Given the description of an element on the screen output the (x, y) to click on. 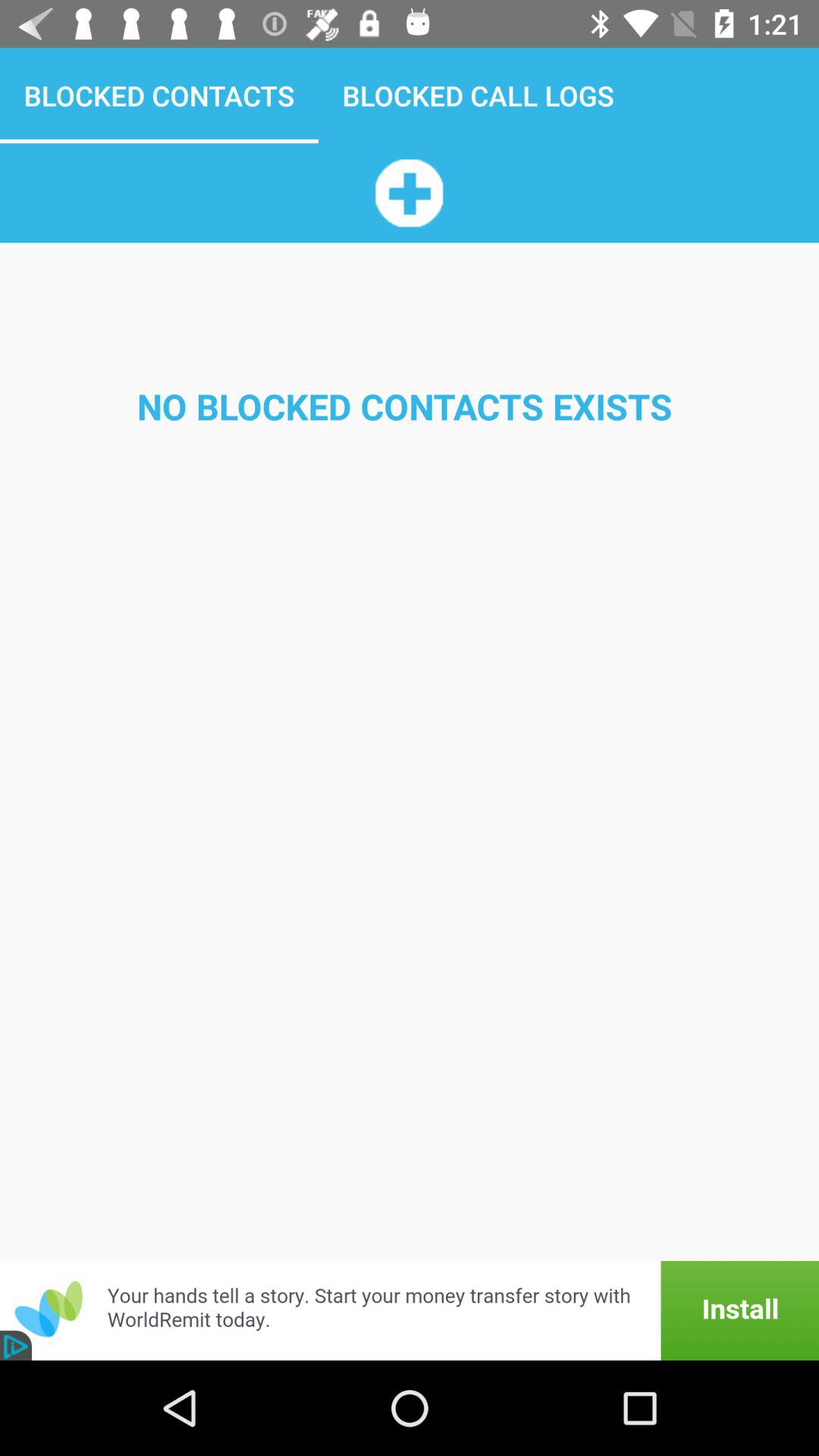
toggle add option (409, 193)
